Given the description of an element on the screen output the (x, y) to click on. 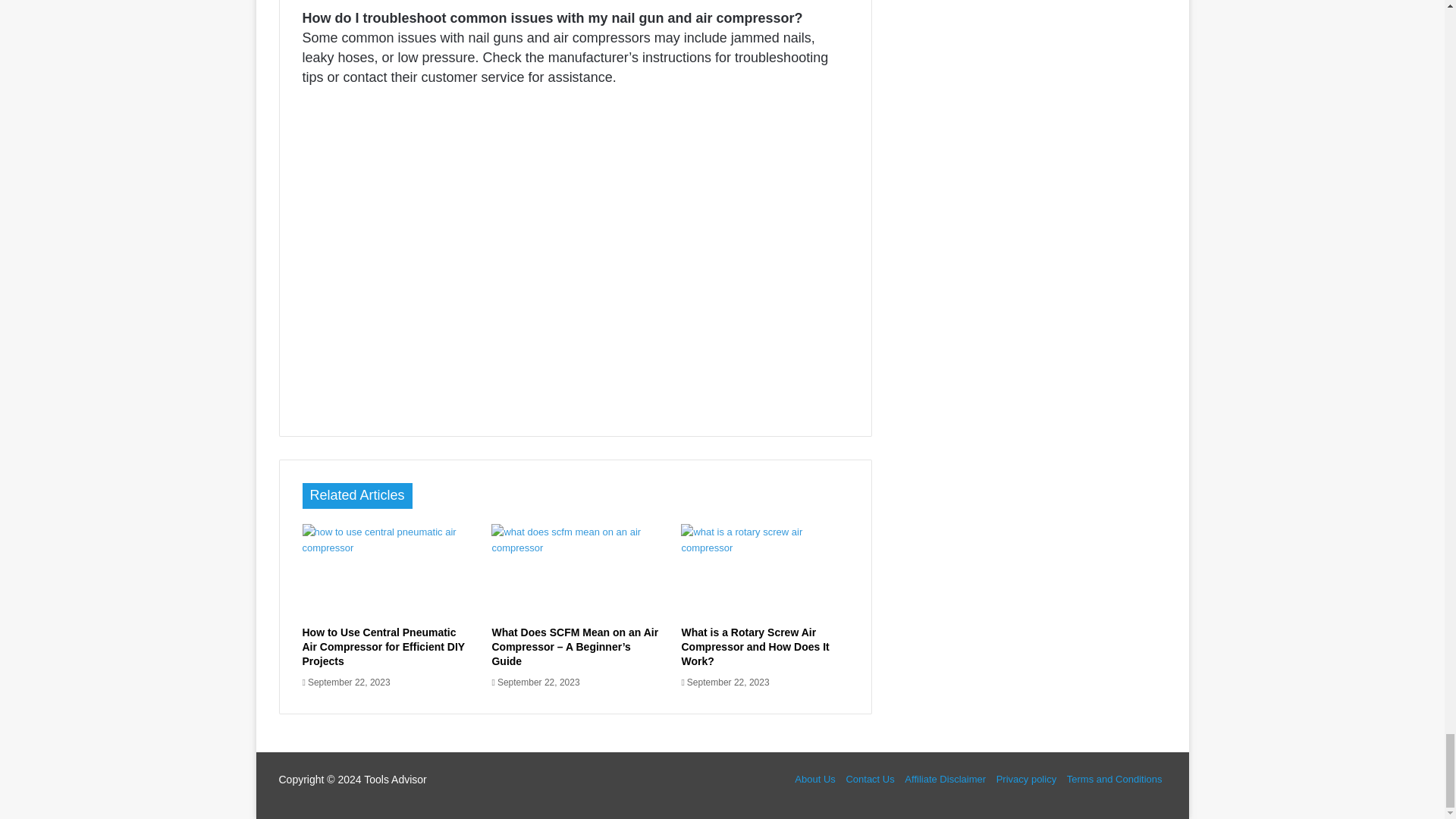
how to use central pneumatic air compressor (384, 571)
what is a rotary screw air compressor (764, 571)
what does scfm mean on an air compressor (575, 571)
